Given the description of an element on the screen output the (x, y) to click on. 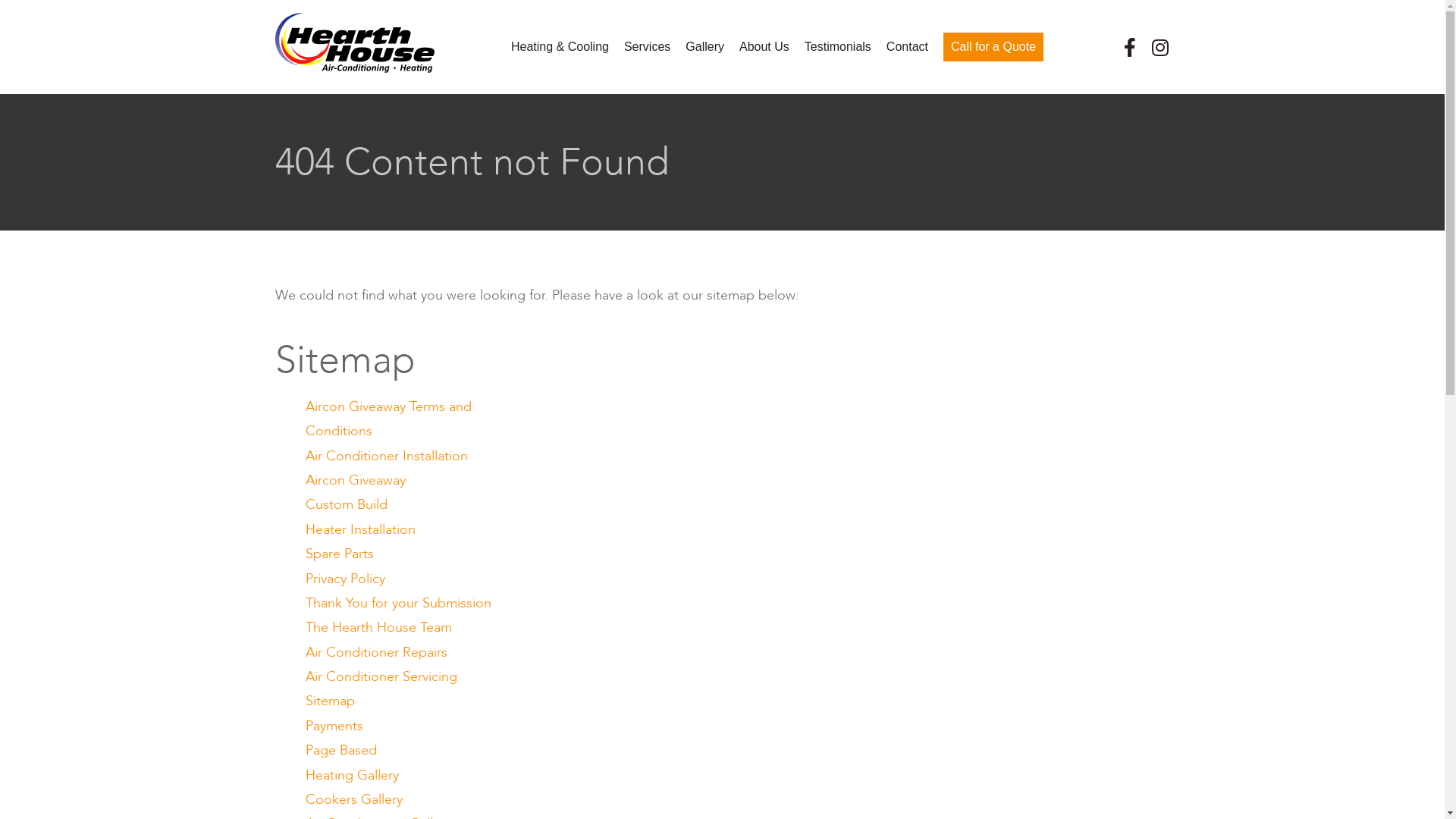
Contact Element type: text (907, 46)
Services Element type: text (647, 46)
Custom Build Element type: text (345, 504)
Sitemap Element type: text (329, 700)
Air Conditioner Repairs Element type: text (375, 652)
About Us Element type: text (764, 46)
Spare Parts Element type: text (338, 553)
Thank You for your Submission Element type: text (397, 602)
Cookers Gallery Element type: text (352, 799)
Testimonials Element type: text (837, 46)
Aircon Giveaway Element type: text (354, 479)
Heating & Cooling Element type: text (559, 46)
Call for a Quote Element type: text (993, 46)
Aircon Giveaway Terms and Conditions Element type: text (387, 418)
Heater Installation Element type: text (359, 529)
Gallery Element type: text (704, 46)
Privacy Policy Element type: text (344, 578)
Payments Element type: text (333, 725)
Air Conditioner Installation Element type: text (385, 455)
Heating Gallery Element type: text (351, 774)
The Hearth House Team Element type: text (377, 627)
Page Based Element type: text (340, 749)
Air Conditioner Servicing Element type: text (380, 676)
